Given the description of an element on the screen output the (x, y) to click on. 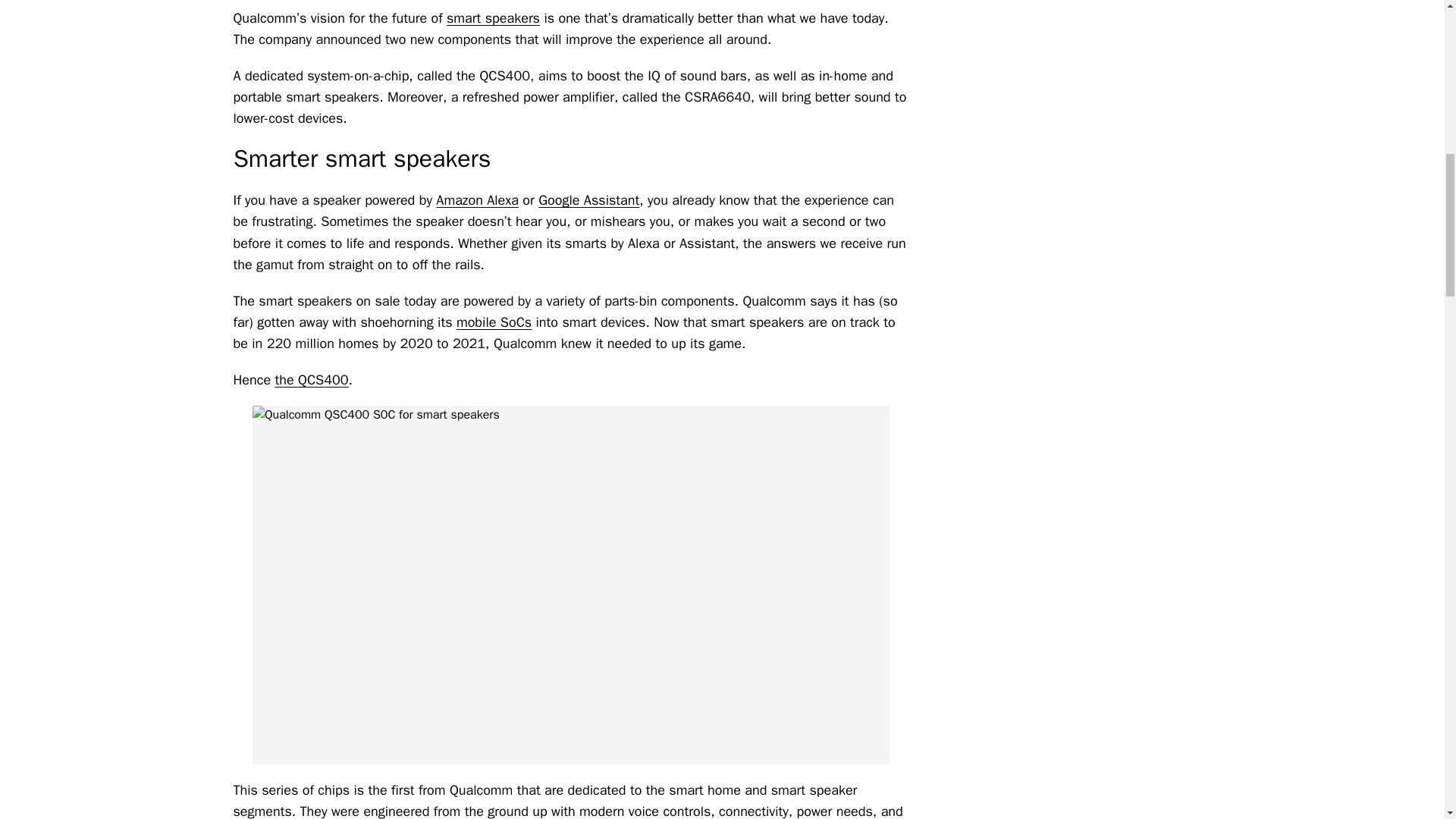
Google Assistant (588, 199)
Amazon Alexa (476, 199)
the QCS400 (312, 379)
mobile SoCs (494, 321)
smart speakers (493, 17)
